Given the description of an element on the screen output the (x, y) to click on. 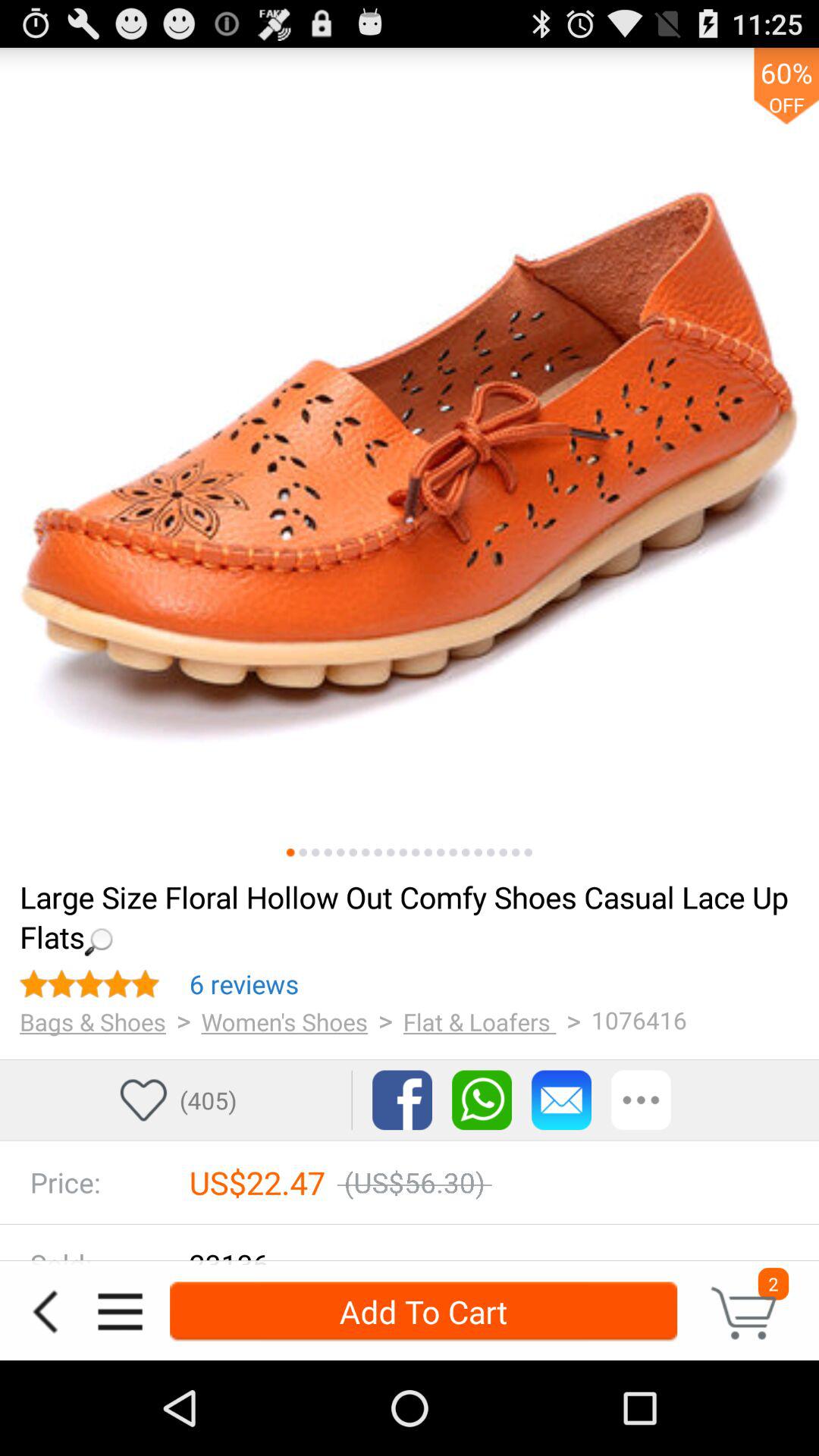
show different picture (465, 852)
